Given the description of an element on the screen output the (x, y) to click on. 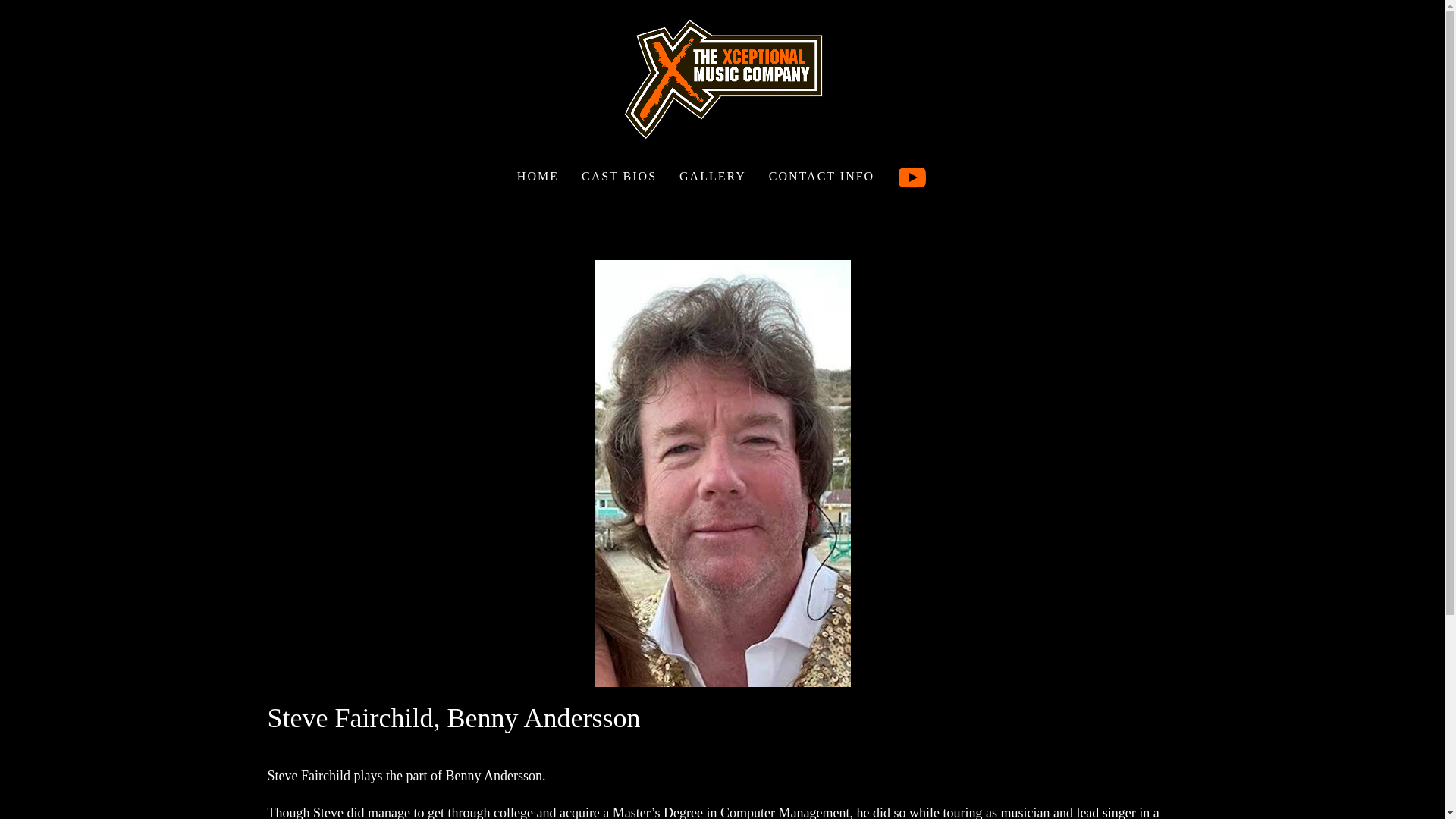
CAST BIOS (618, 176)
CONTACT INFO (821, 176)
GALLERY (712, 176)
